Given the description of an element on the screen output the (x, y) to click on. 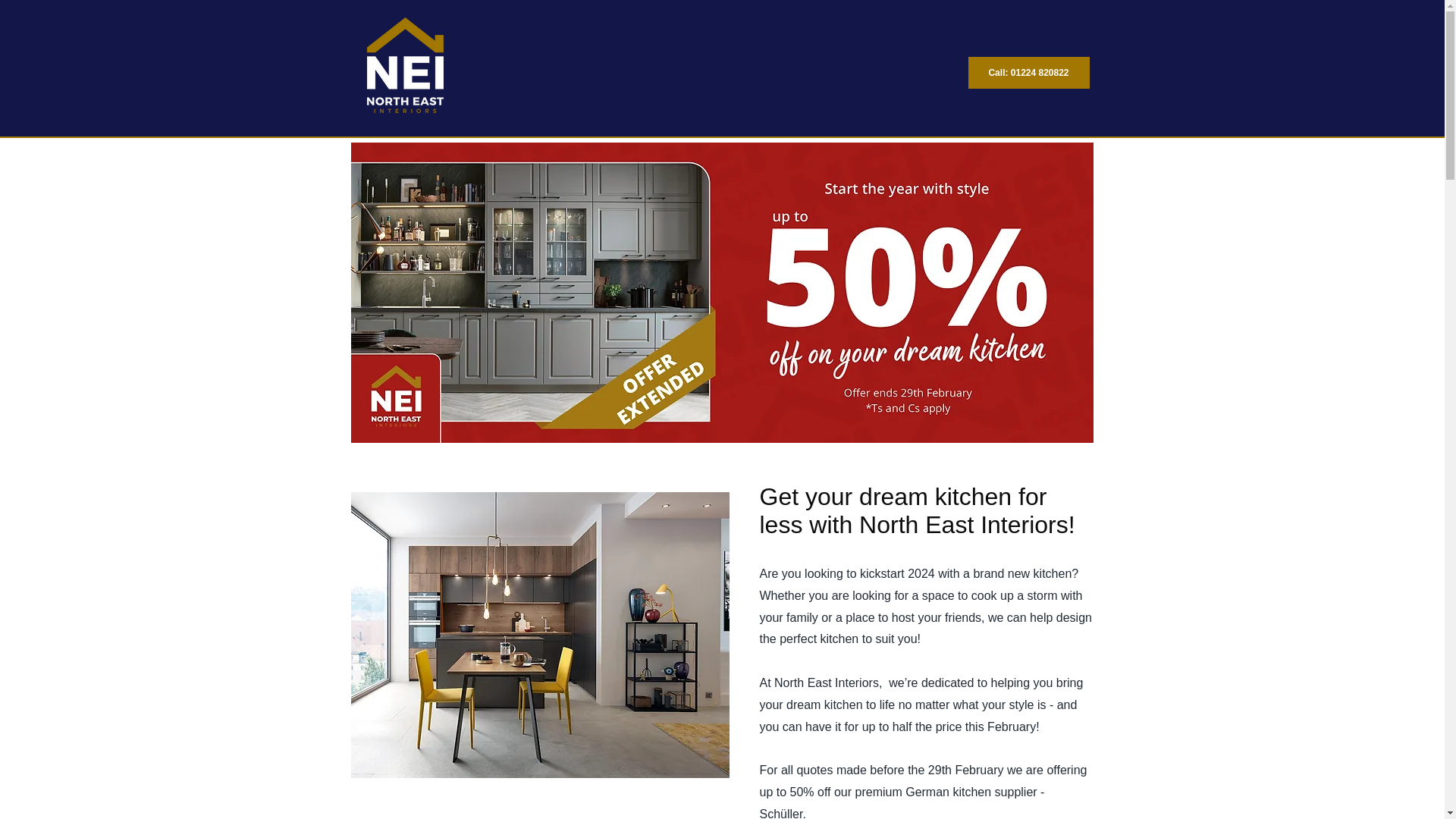
Call: 01224 820822 (1028, 72)
